Given the description of an element on the screen output the (x, y) to click on. 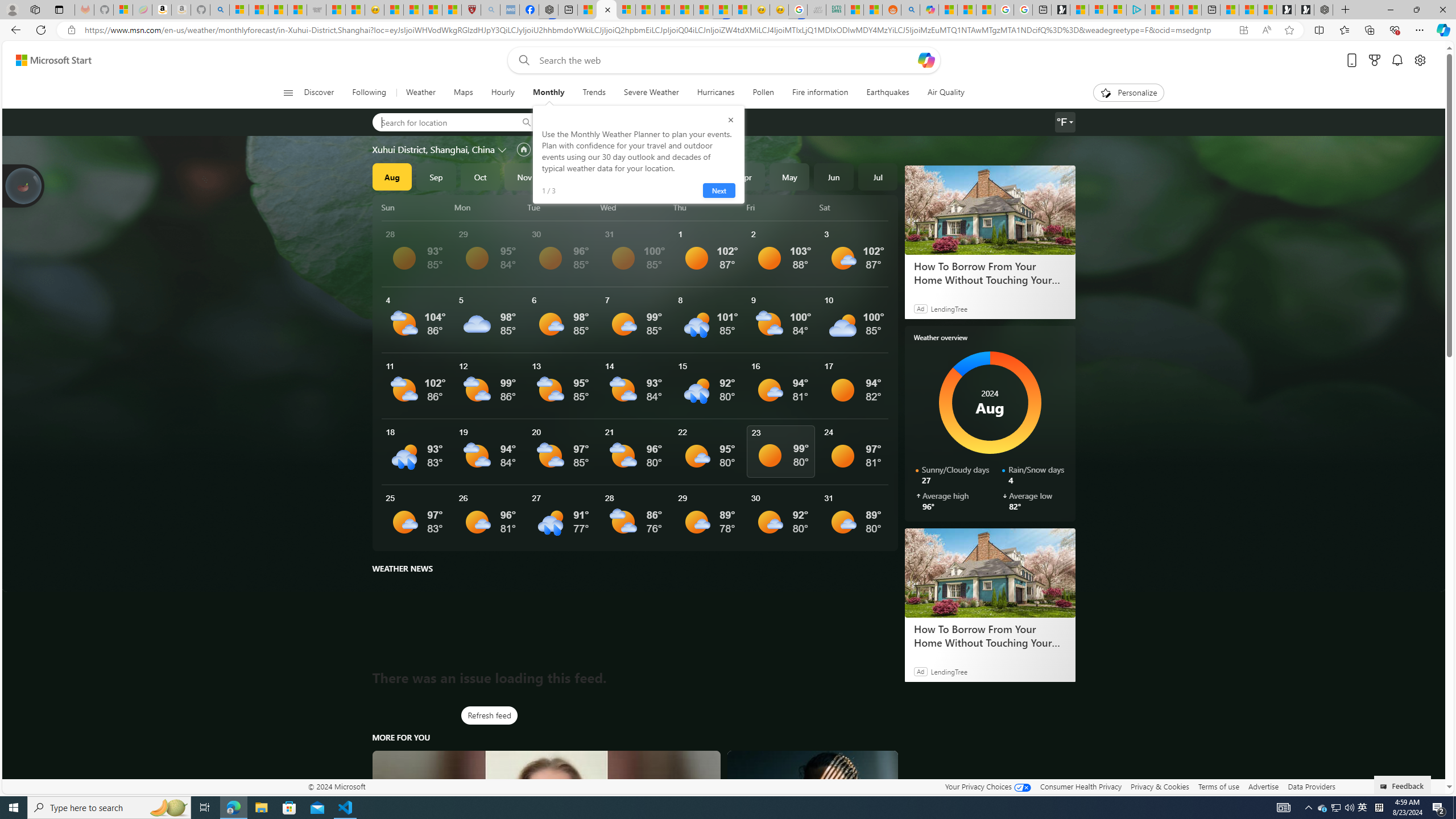
Thu (707, 207)
How To Borrow From Your Home Without Touching Your Mortgage (989, 572)
Web search (520, 60)
Dec (568, 176)
Jul (877, 176)
Hourly (502, 92)
Terms of use (1218, 786)
